Given the description of an element on the screen output the (x, y) to click on. 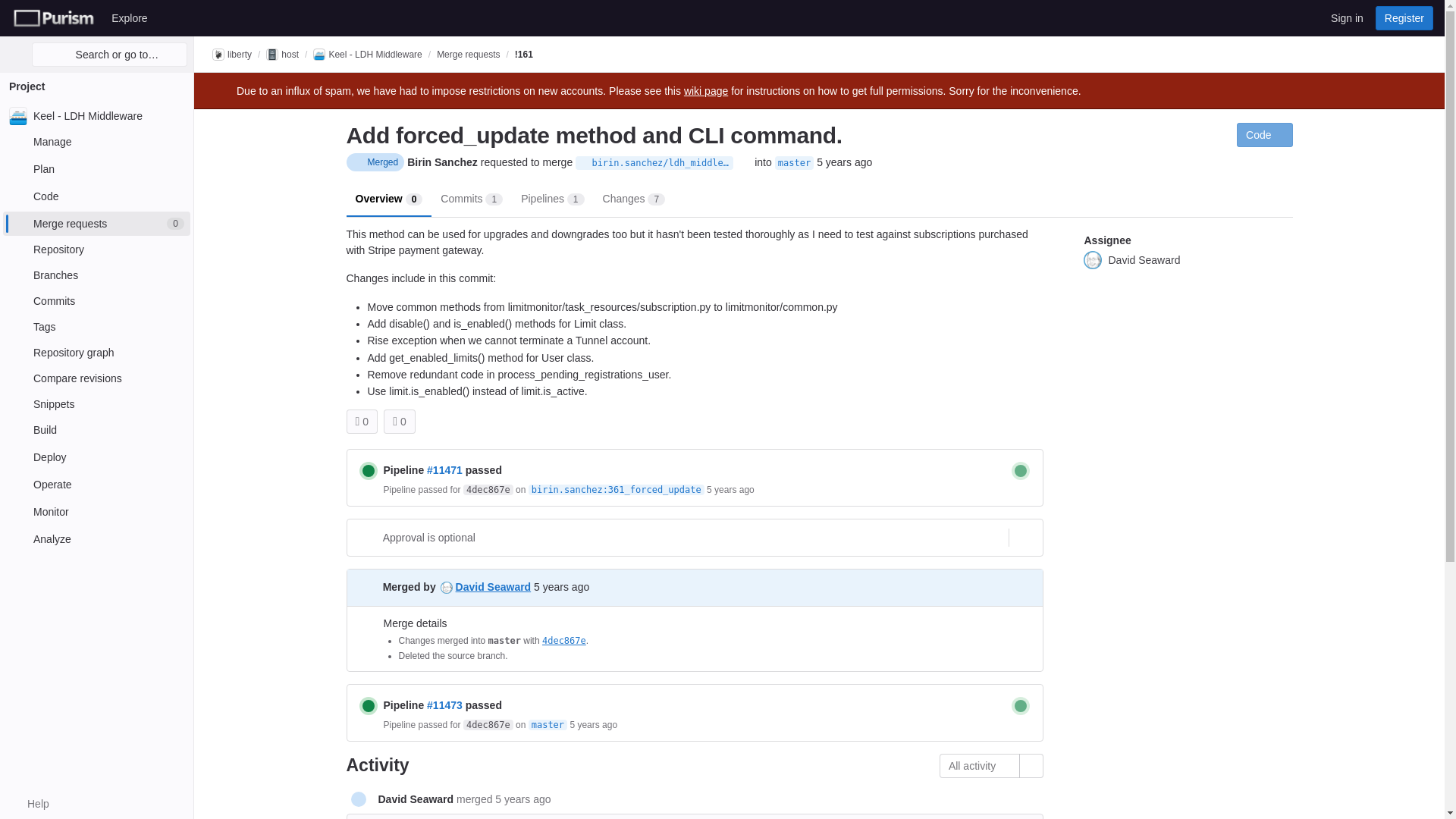
Plan (96, 168)
Explore (128, 17)
Compare revisions (96, 378)
Deploy (96, 457)
Collapse eligible approvers (96, 223)
The source project is a fork (1023, 537)
Repository (583, 163)
deb: passed (96, 249)
Repository graph (1020, 470)
Passed (96, 352)
Operate (368, 470)
Register (96, 484)
Code (1403, 17)
master (96, 196)
